Given the description of an element on the screen output the (x, y) to click on. 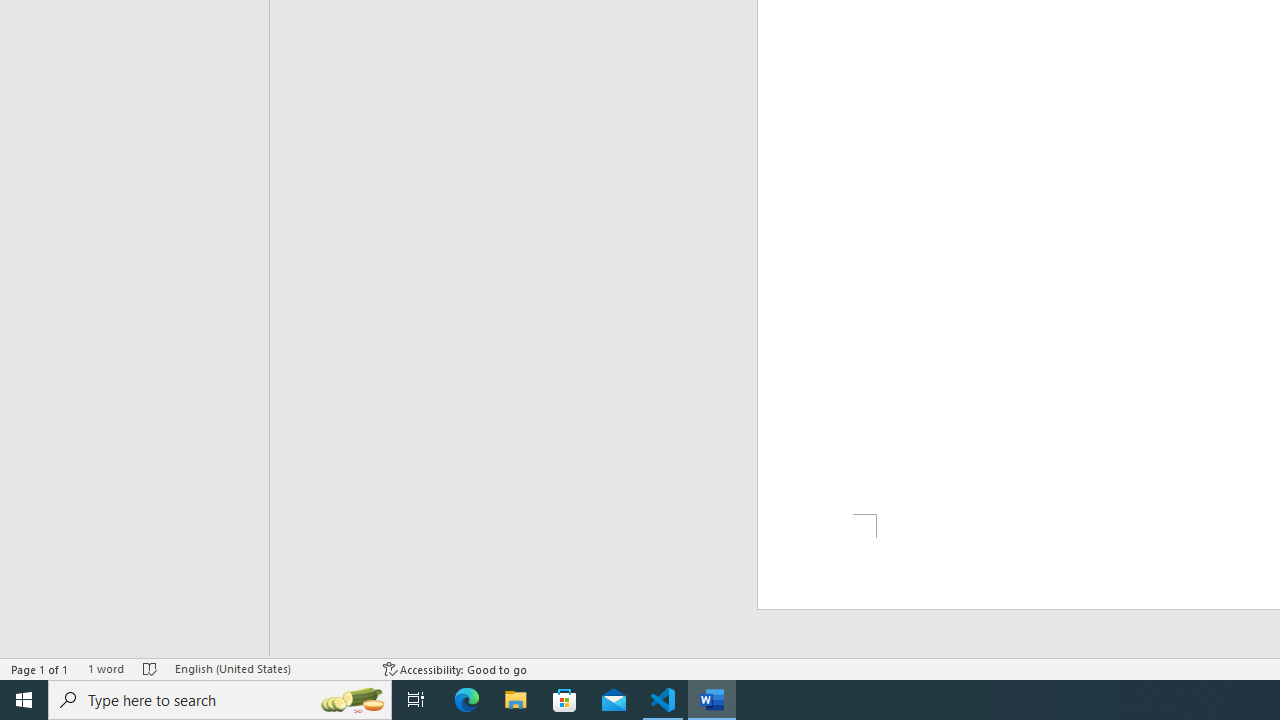
Language English (United States) (269, 668)
Page Number Page 1 of 1 (39, 668)
Spelling and Grammar Check No Errors (150, 668)
Accessibility Checker Accessibility: Good to go (455, 668)
